Given the description of an element on the screen output the (x, y) to click on. 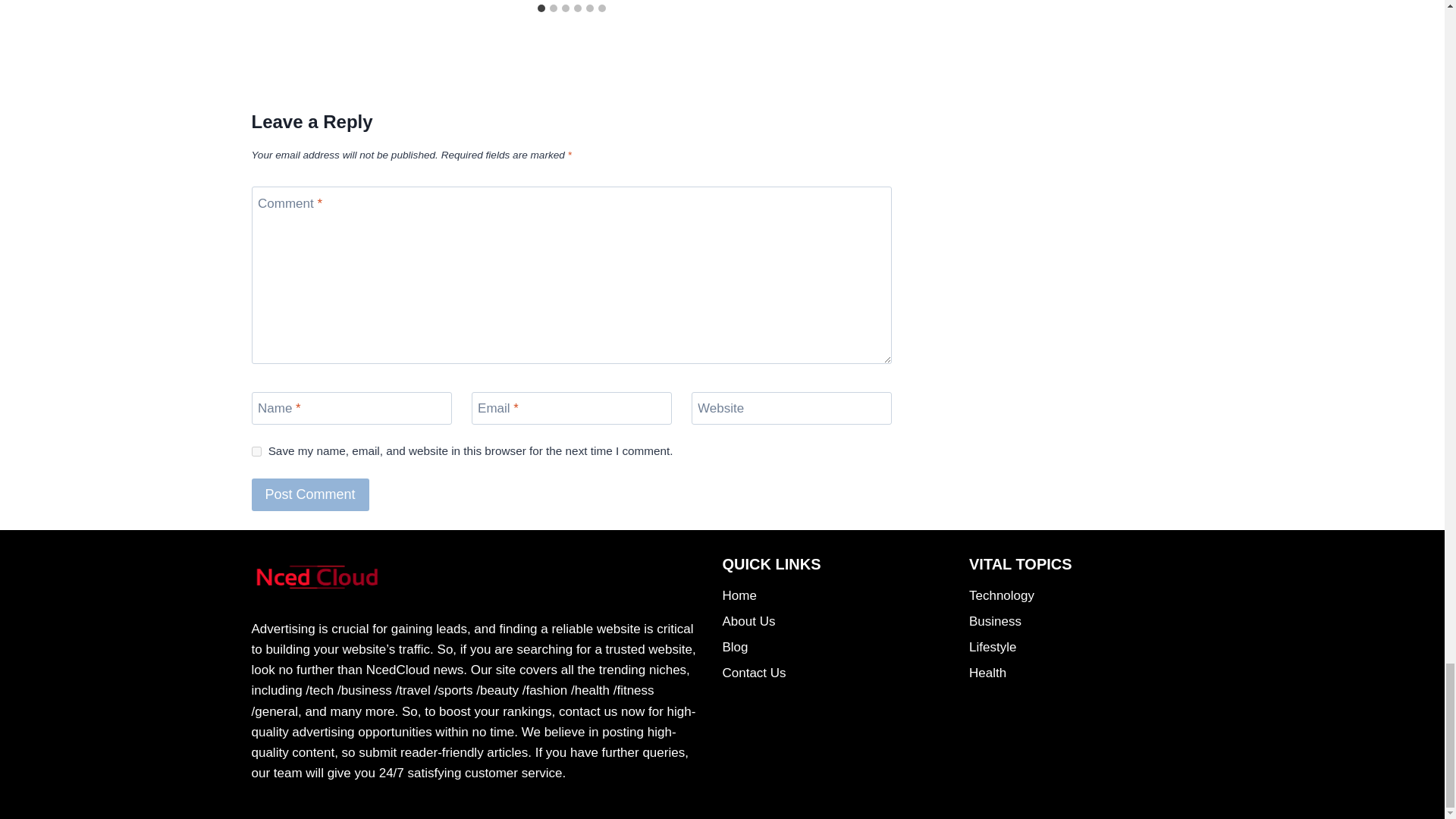
yes (256, 451)
Post Comment (310, 494)
